Given the description of an element on the screen output the (x, y) to click on. 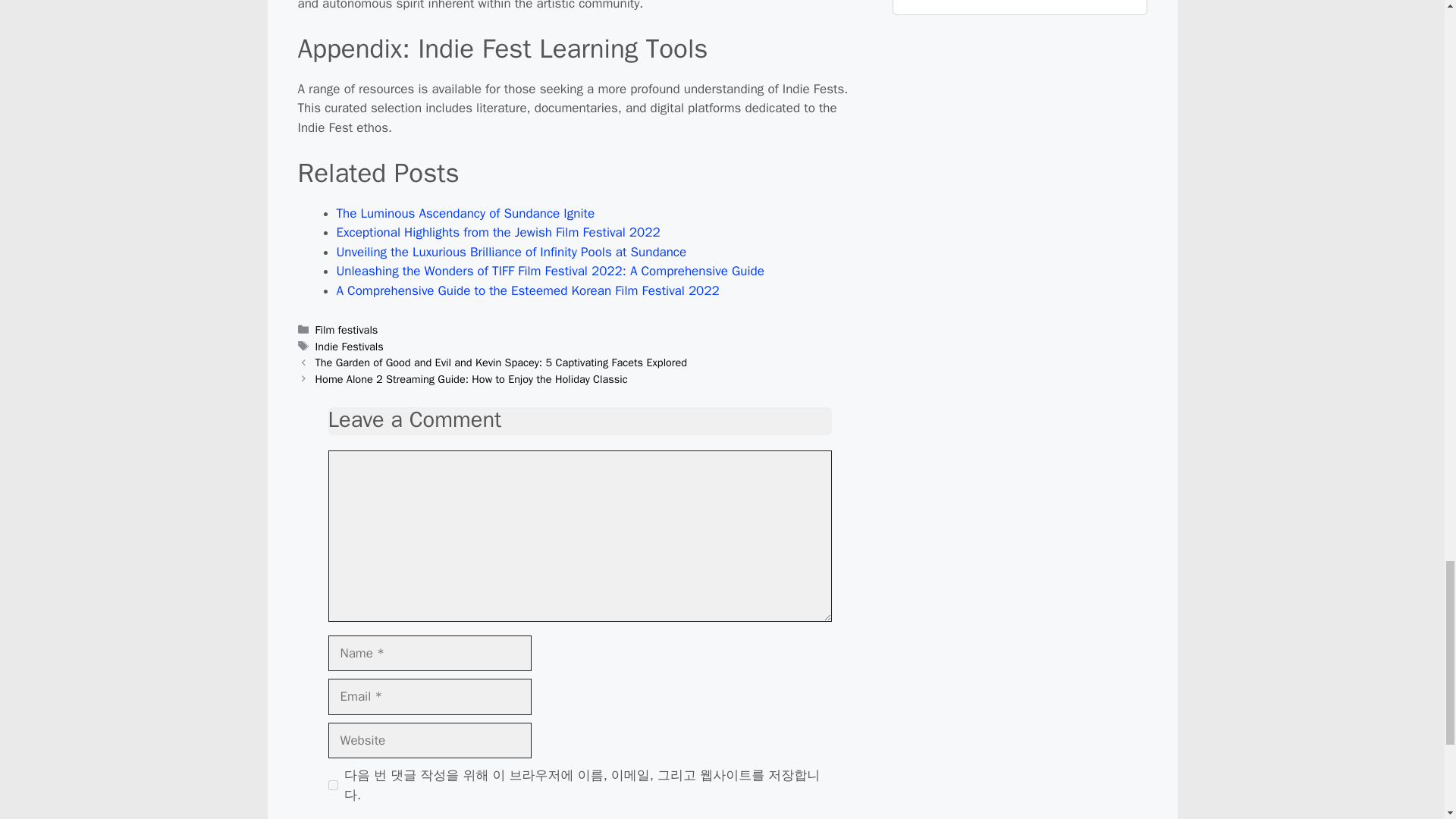
Exceptional Highlights from the Jewish Film Festival 2022 (498, 232)
Film festivals (346, 329)
yes (332, 785)
Indie Festivals (349, 345)
The Luminous Ascendancy of Sundance Ignite (465, 213)
